Given the description of an element on the screen output the (x, y) to click on. 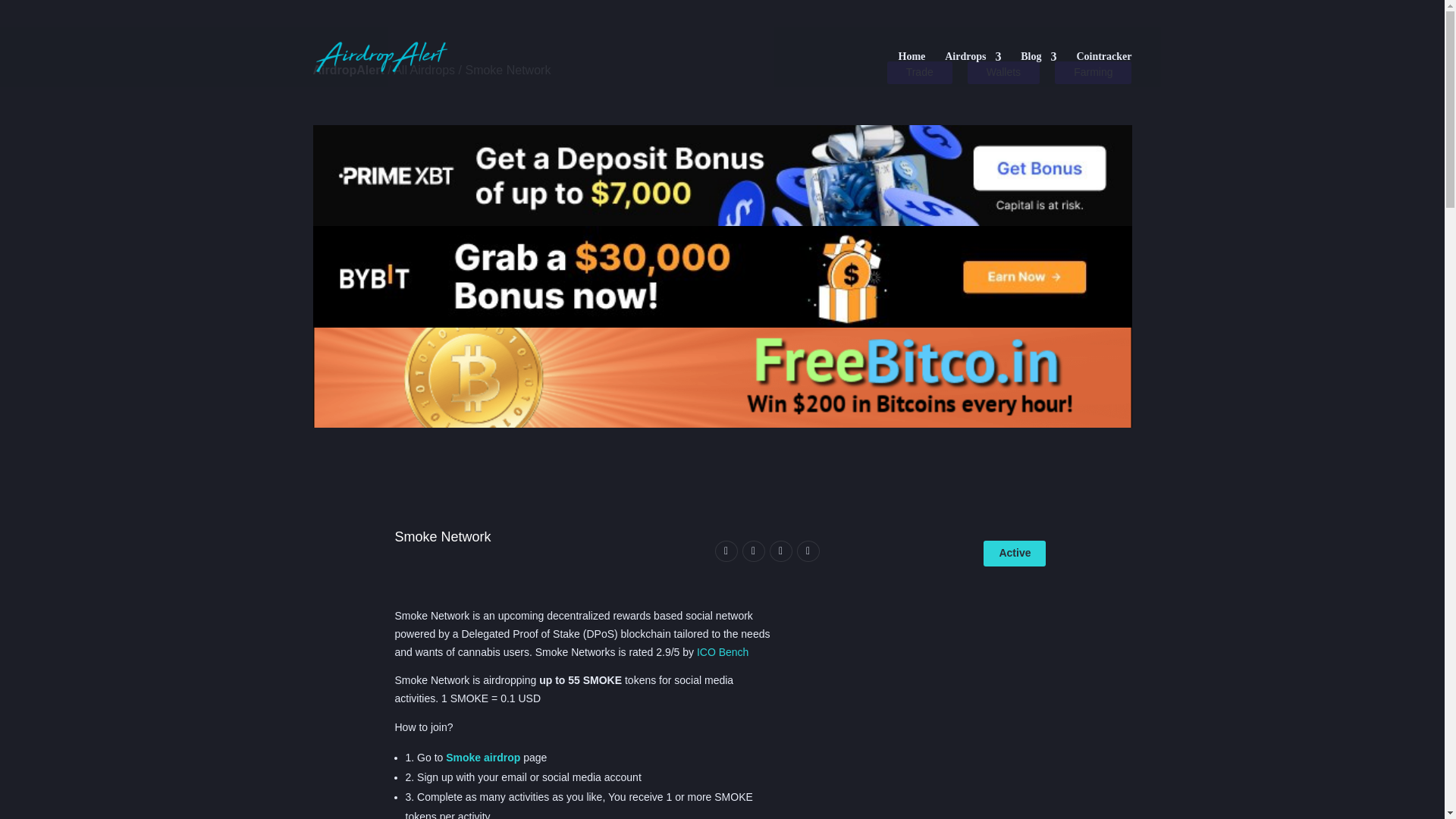
Farming (1092, 72)
Blog (1038, 68)
Airdrops (972, 68)
All Airdrops (423, 69)
Cointracker (1103, 68)
Smoke airdrop (483, 757)
Wallets (1003, 72)
Trade (919, 72)
AirdropAlert (348, 69)
ICO Bench (722, 652)
